Given the description of an element on the screen output the (x, y) to click on. 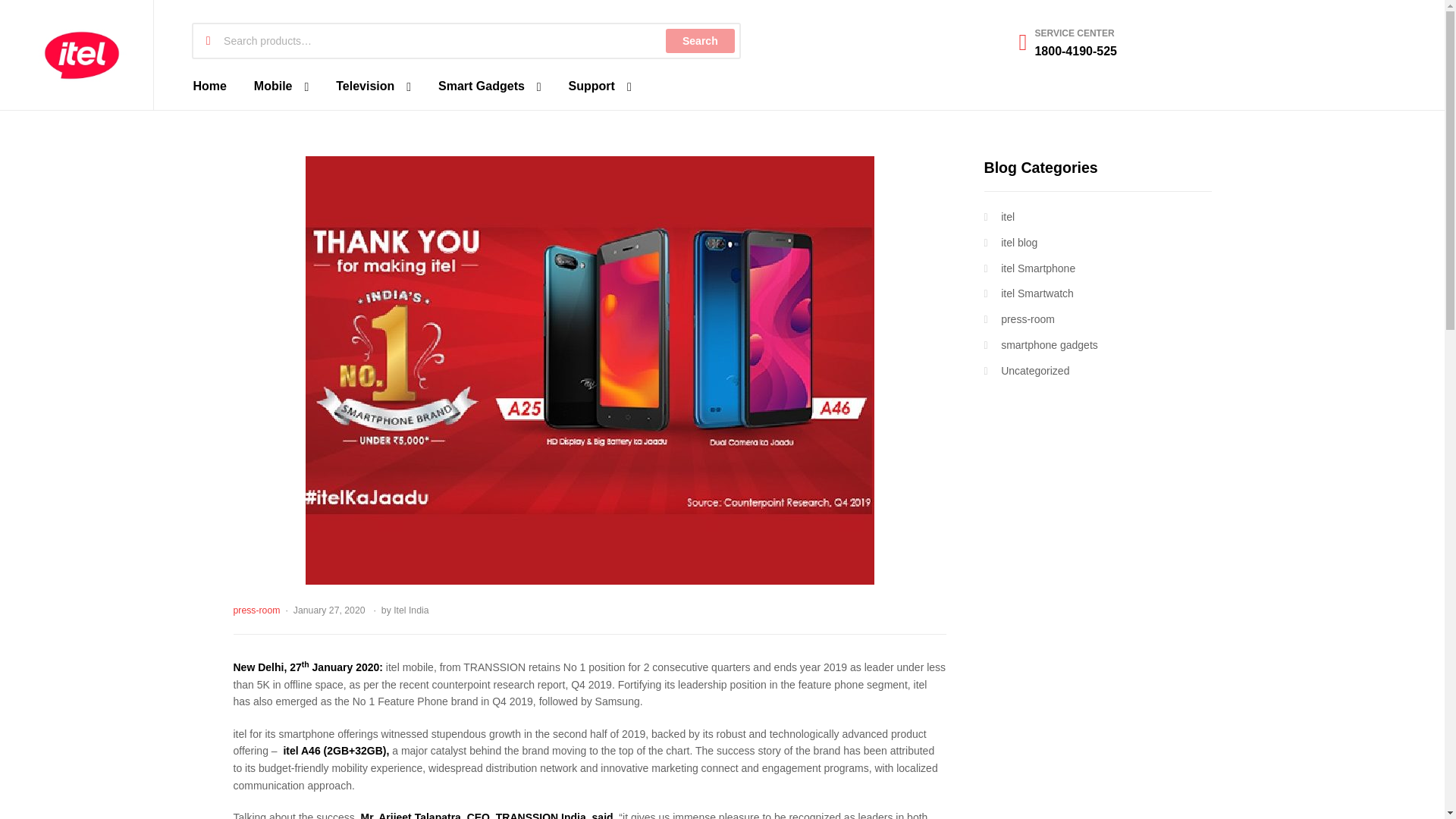
Smart Gadgets (489, 86)
Home (209, 86)
Search (699, 40)
Support (599, 86)
Mobile (281, 86)
Television (373, 86)
